Given the description of an element on the screen output the (x, y) to click on. 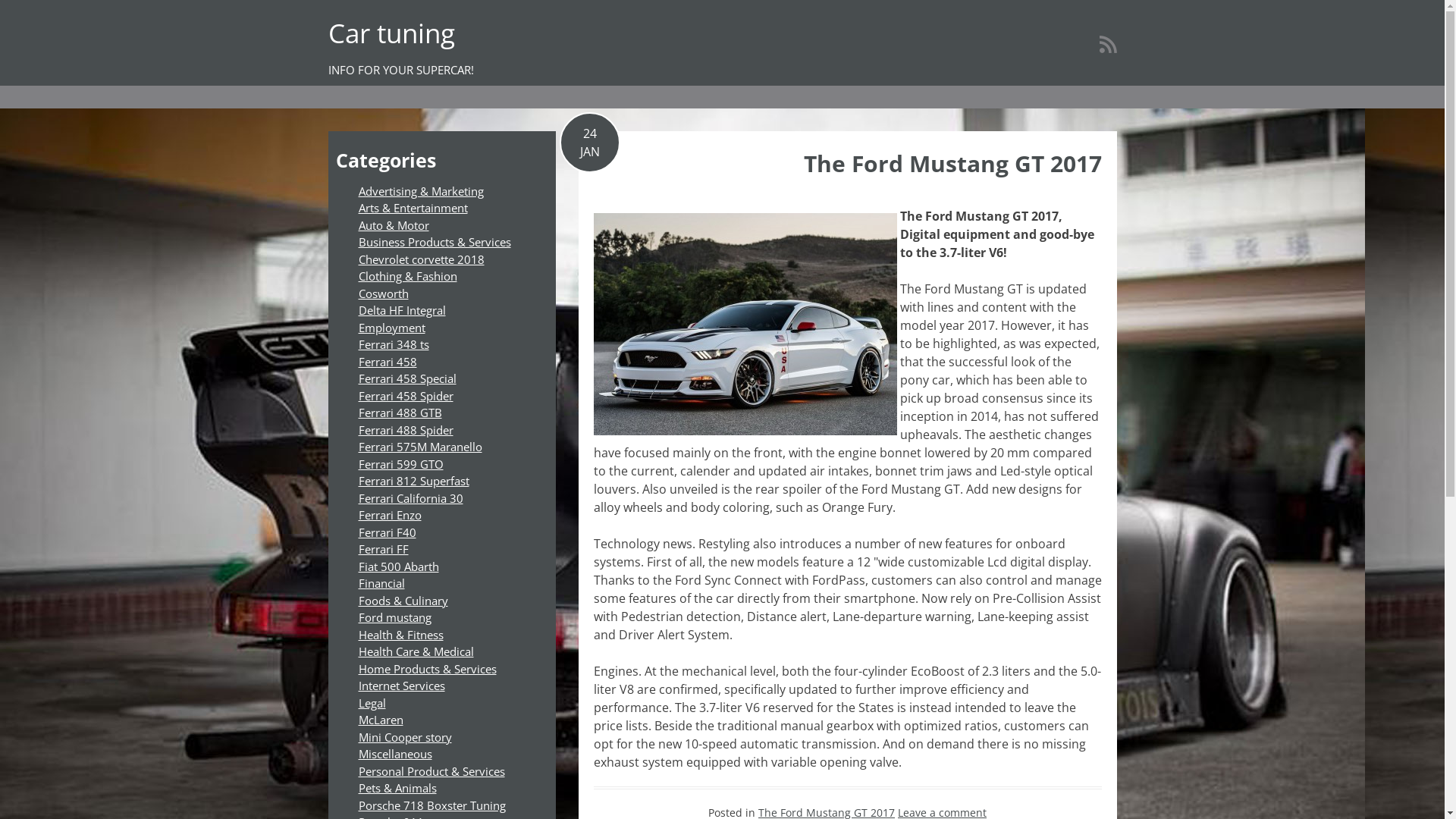
Ferrari 458 Element type: text (386, 360)
Clothing & Fashion Element type: text (406, 275)
McLaren Element type: text (379, 719)
Home Products & Services Element type: text (426, 668)
Auto & Motor Element type: text (392, 224)
Ferrari 812 Superfast Element type: text (412, 480)
Porsche 718 Boxster Tuning Element type: text (431, 804)
Chevrolet corvette 2018 Element type: text (420, 258)
Ferrari California 30 Element type: text (409, 497)
Financial Element type: text (380, 582)
Ferrari 458 Special Element type: text (406, 377)
RSS Element type: hover (1108, 43)
Ferrari 575M Maranello Element type: text (419, 446)
Ferrari Enzo Element type: text (388, 514)
Skip to content Element type: text (0, 0)
Ferrari FF Element type: text (382, 548)
Miscellaneous Element type: text (394, 753)
Advertising & Marketing Element type: text (420, 190)
Ferrari F40 Element type: text (386, 531)
Health & Fitness Element type: text (399, 633)
Pets & Animals Element type: text (396, 787)
Foods & Culinary Element type: text (402, 600)
Ferrari 458 Spider Element type: text (404, 395)
Car tuning Element type: text (390, 32)
Ferrari 348 ts Element type: text (392, 343)
Fiat 500 Abarth Element type: text (397, 565)
Health Care & Medical Element type: text (415, 650)
The Ford Mustang GT 2017 Element type: text (952, 162)
Mini Cooper story Element type: text (404, 736)
Arts & Entertainment Element type: text (412, 207)
Cosworth Element type: text (382, 292)
24
JAN Element type: text (589, 142)
Ferrari 599 GTO Element type: text (399, 463)
Ford mustang Element type: text (393, 616)
Business Products & Services Element type: text (433, 241)
Internet Services Element type: text (400, 685)
Ferrari 488 GTB Element type: text (399, 412)
Ferrari 488 Spider Element type: text (404, 428)
Delta HF Integral Element type: text (401, 309)
Employment Element type: text (390, 327)
Personal Product & Services Element type: text (430, 770)
Legal Element type: text (371, 701)
